Given the description of an element on the screen output the (x, y) to click on. 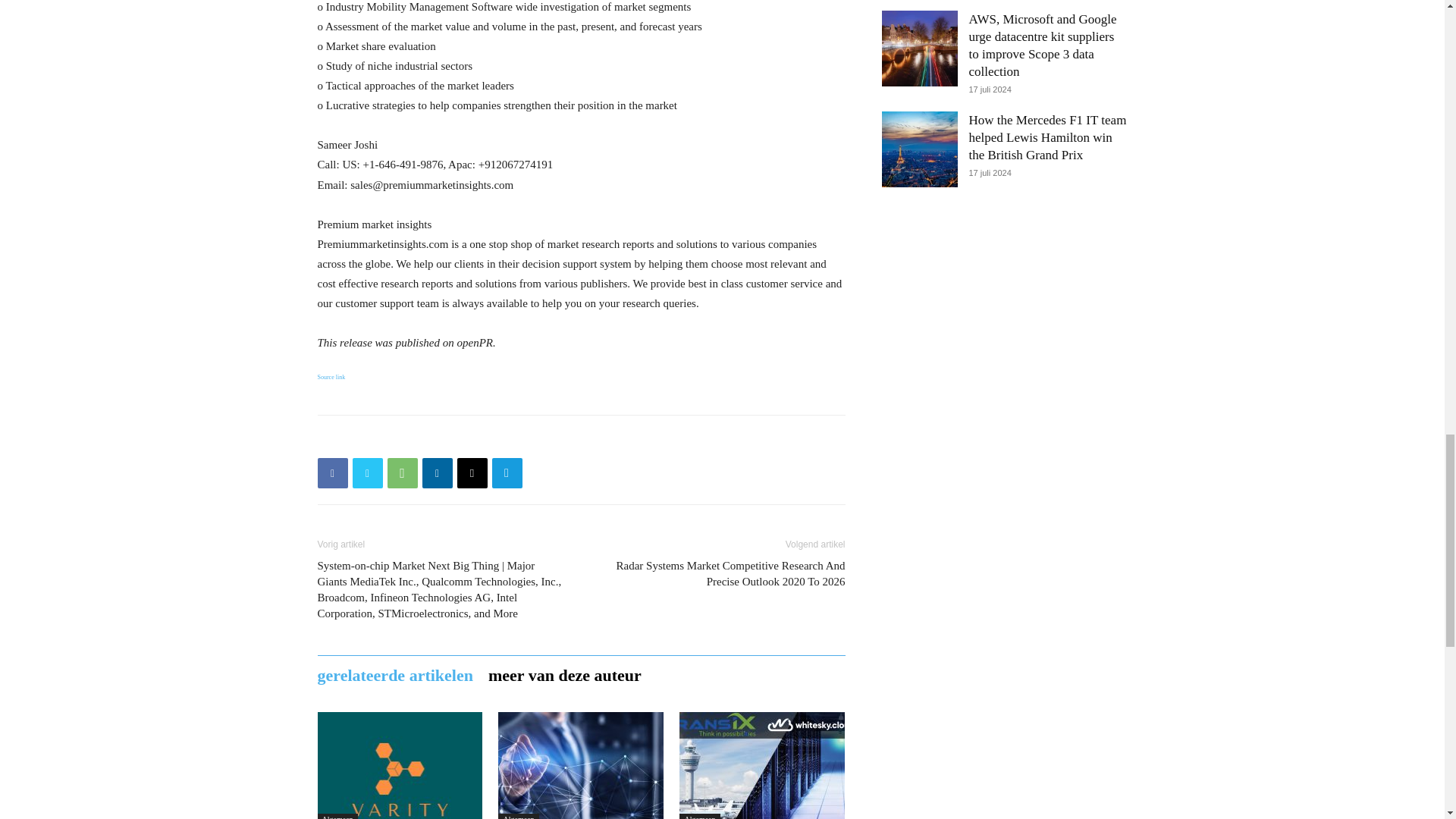
bottomFacebookLike (430, 439)
WhatsApp (401, 472)
Email (471, 472)
Facebook (332, 472)
Linkedin (436, 472)
Telegram (506, 472)
Twitter (366, 472)
